Given the description of an element on the screen output the (x, y) to click on. 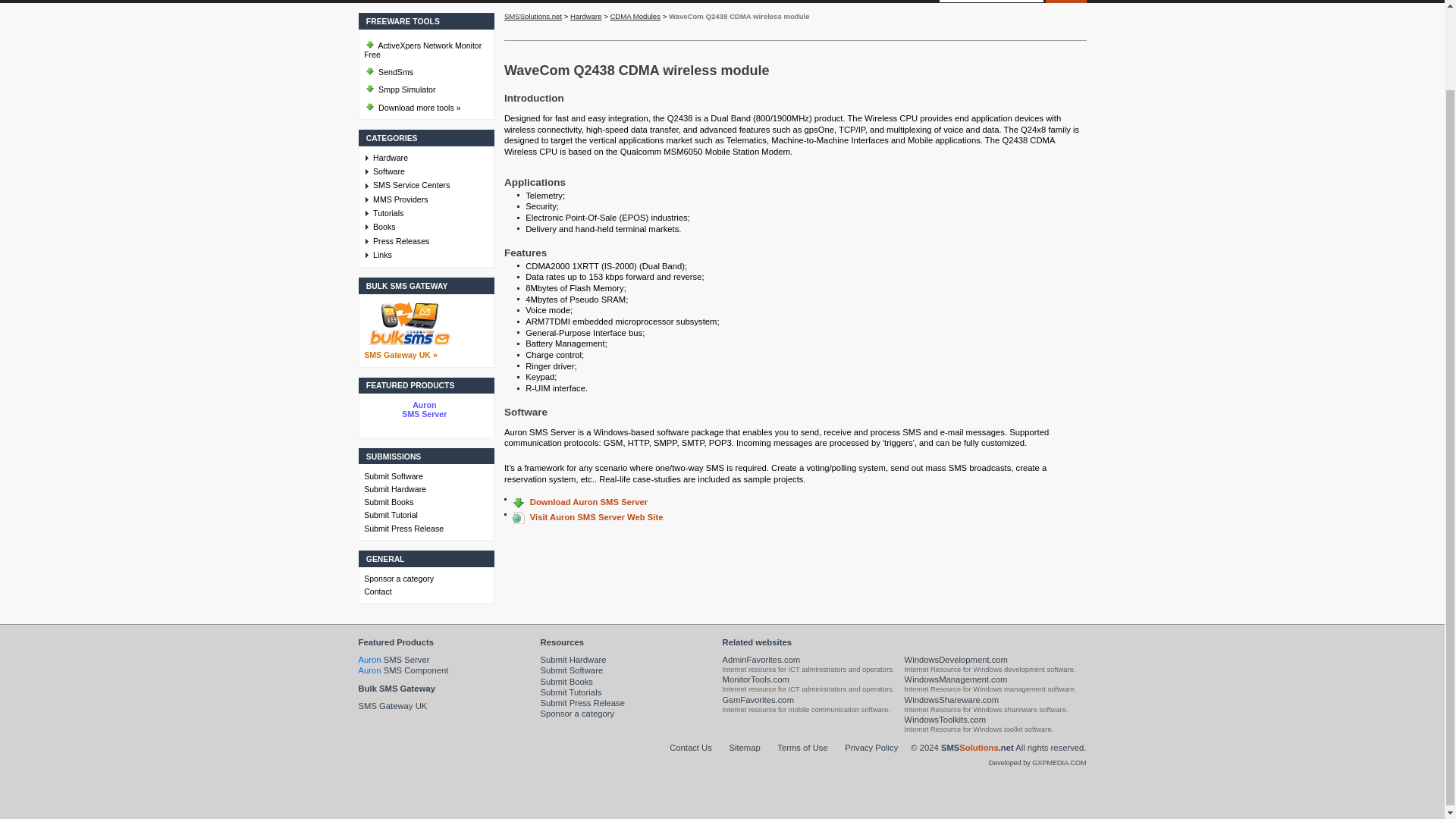
Search (1065, 1)
 Smpp Simulator (424, 87)
Top (976, 747)
 ActiveXpers Network Monitor Free (424, 47)
Hardware (485, 1)
 SendSms (424, 69)
Resources (651, 1)
Contact us (715, 1)
Hardware (429, 157)
Home (377, 1)
Freeware (427, 1)
Submit (595, 1)
Sponsor (774, 1)
Search (1065, 1)
